Given the description of an element on the screen output the (x, y) to click on. 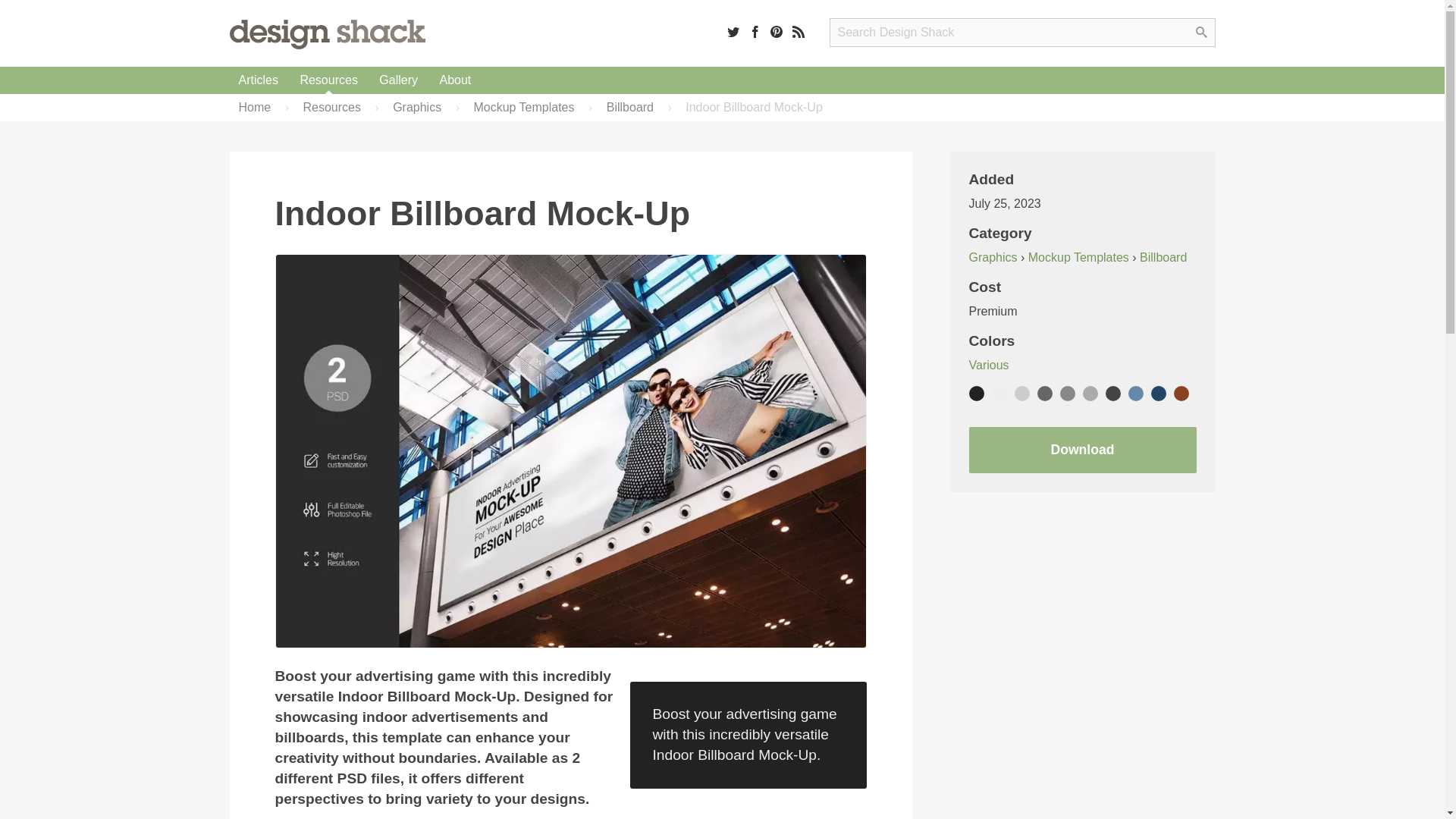
Search Design Shack (1022, 32)
Search Design Shack (1022, 32)
Articles (257, 80)
Articles (257, 80)
Facebook (755, 31)
Pinterest (776, 31)
RSS Feed (797, 31)
Design Shack (326, 34)
